Given the description of an element on the screen output the (x, y) to click on. 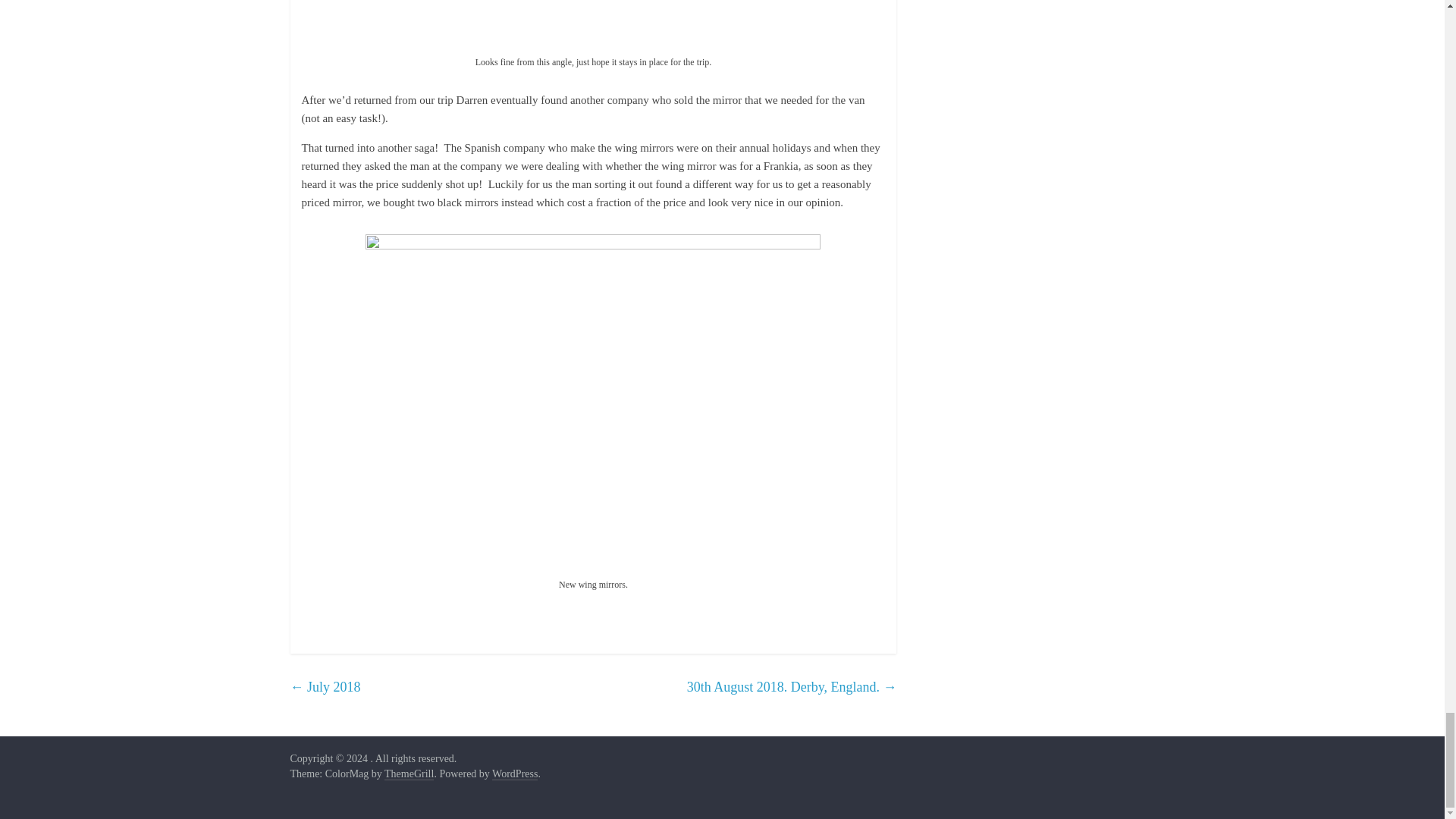
ThemeGrill (408, 774)
WordPress (514, 774)
